Given the description of an element on the screen output the (x, y) to click on. 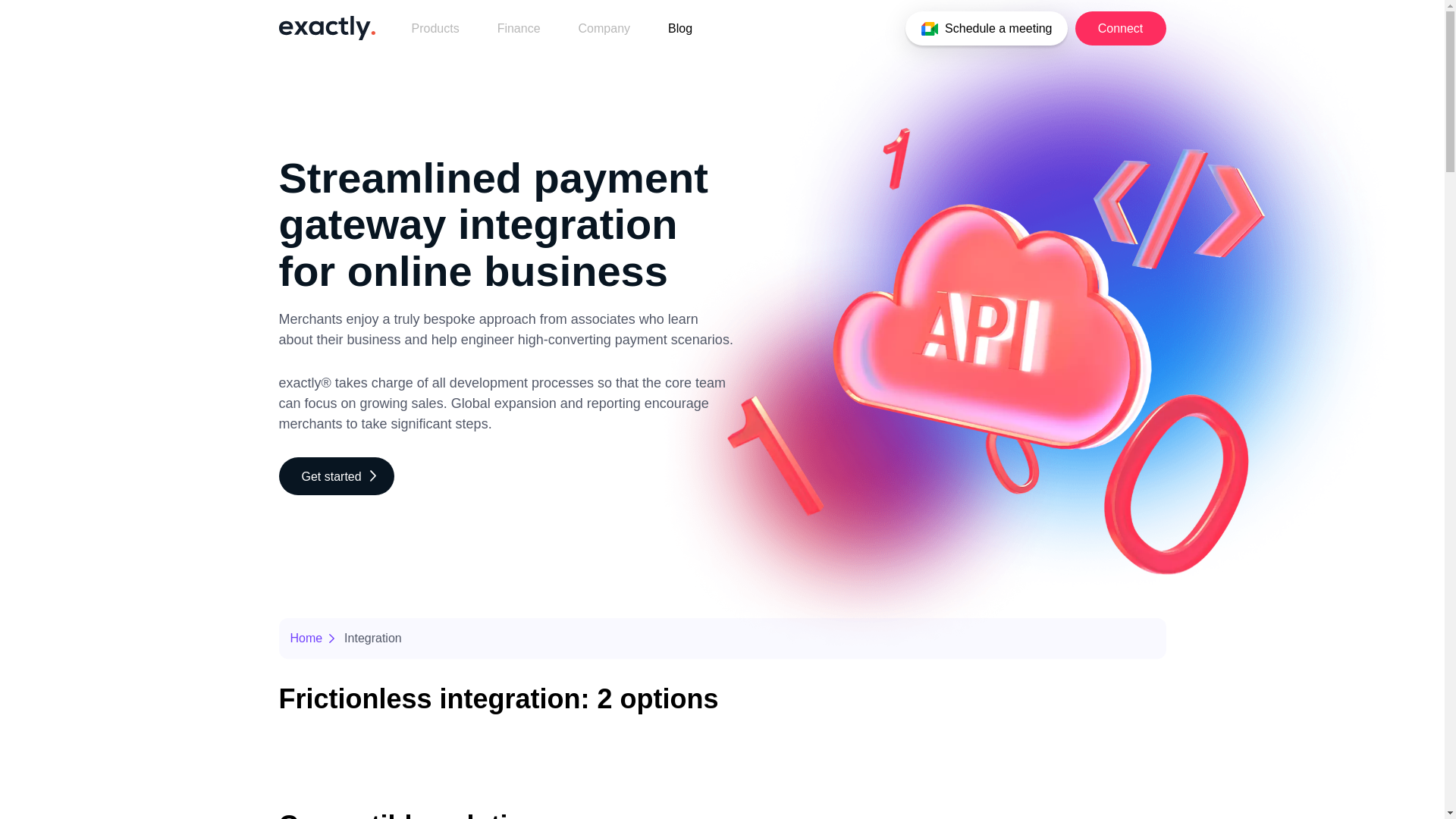
Connect (1120, 28)
Company (604, 28)
Blog (680, 28)
Schedule a meeting (986, 28)
Products (436, 28)
Finance (519, 28)
